Given the description of an element on the screen output the (x, y) to click on. 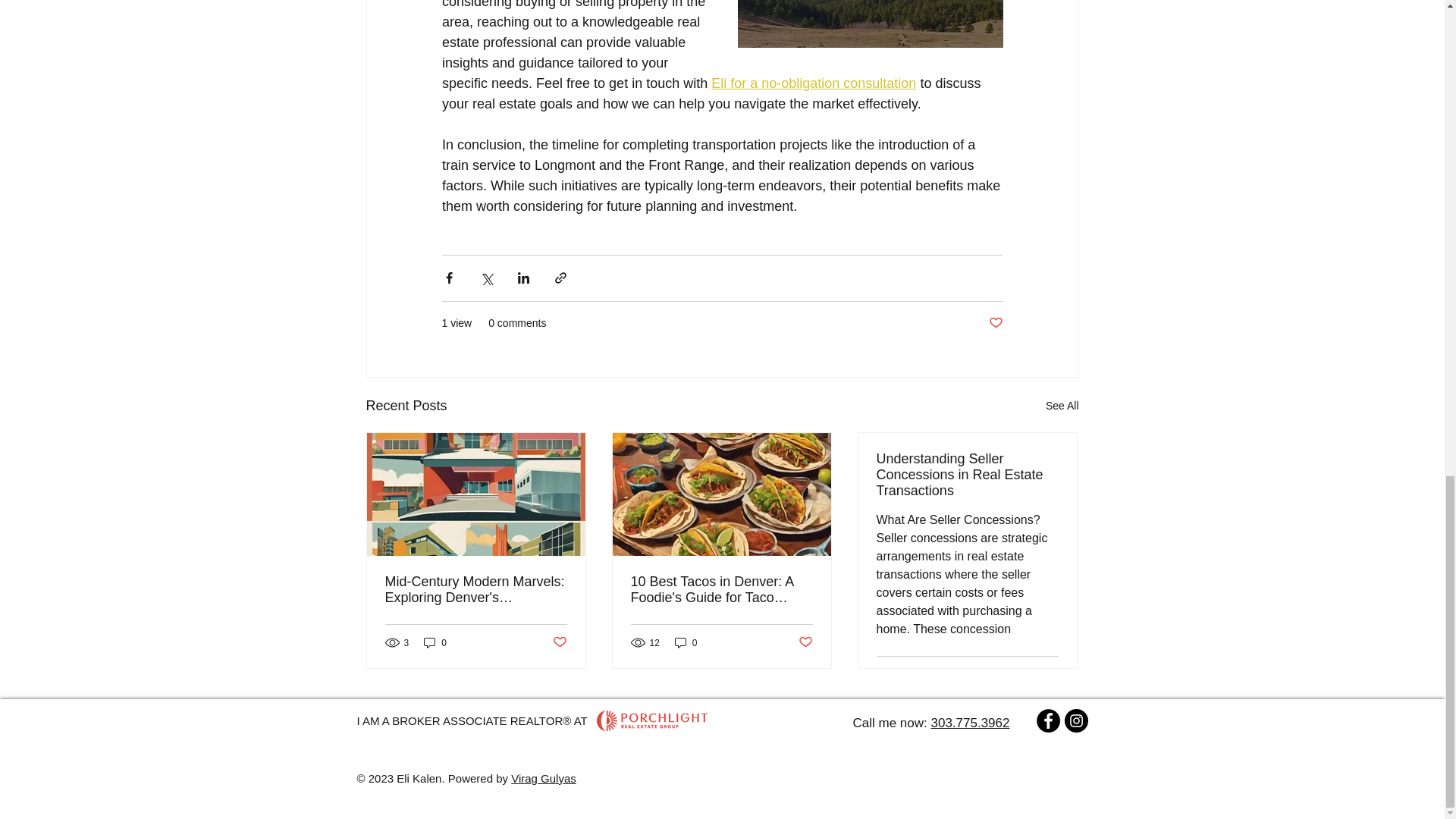
Post not marked as liked (1050, 674)
See All (1061, 405)
303.775.3962 (969, 722)
Eli for a no-obligation consultation (813, 83)
0 (685, 642)
Post not marked as liked (558, 642)
10 Best Tacos in Denver: A Foodie's Guide for Taco Lovers. (721, 590)
0 (435, 642)
Understanding Seller Concessions in Real Estate Transactions (967, 474)
Post not marked as liked (804, 642)
Porch Light Logo.png (650, 720)
Post not marked as liked (995, 323)
